Given the description of an element on the screen output the (x, y) to click on. 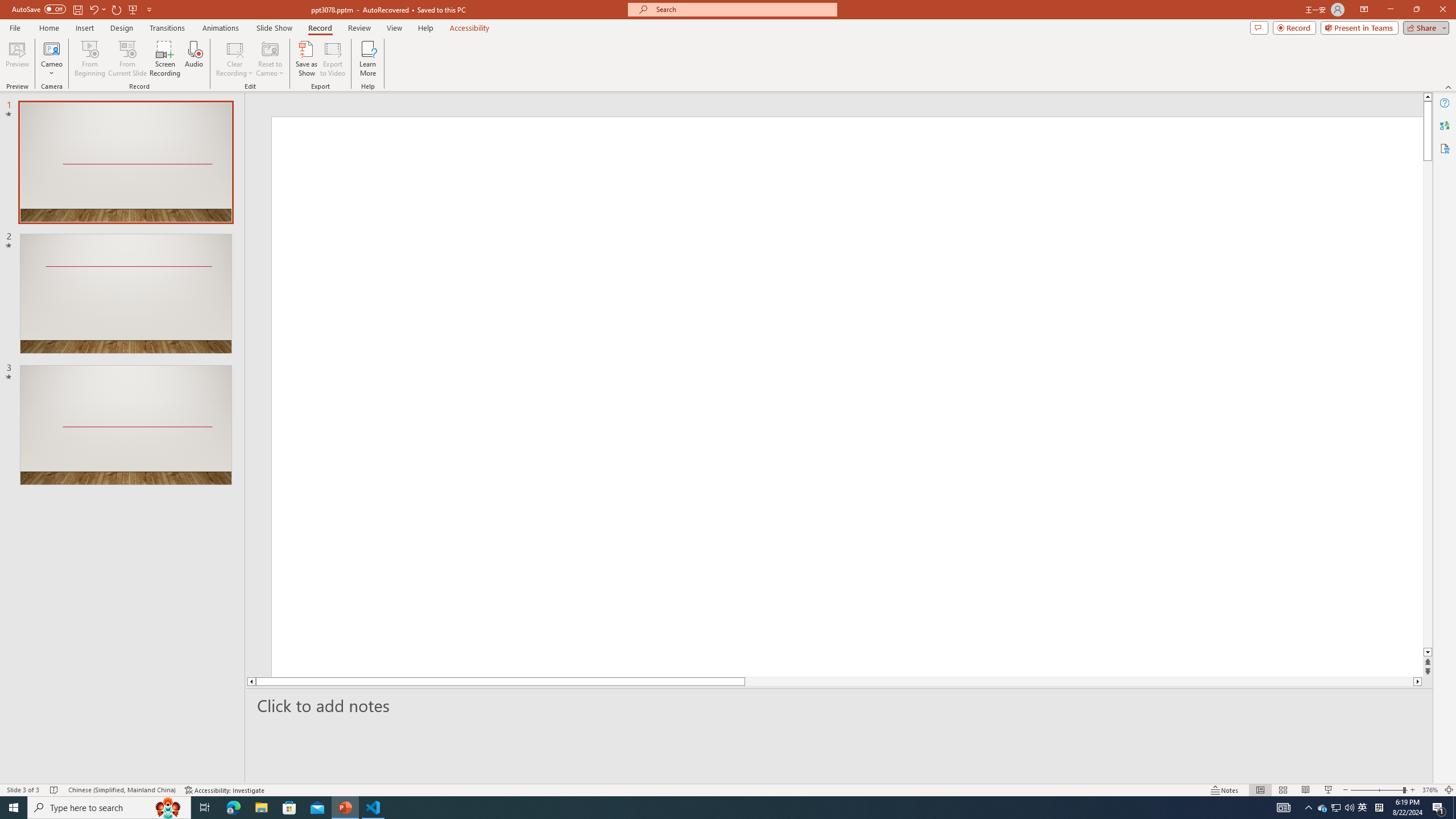
Translator (1444, 125)
Reset to Cameo (269, 58)
From Beginning... (89, 58)
Line up (1427, 96)
